Given the description of an element on the screen output the (x, y) to click on. 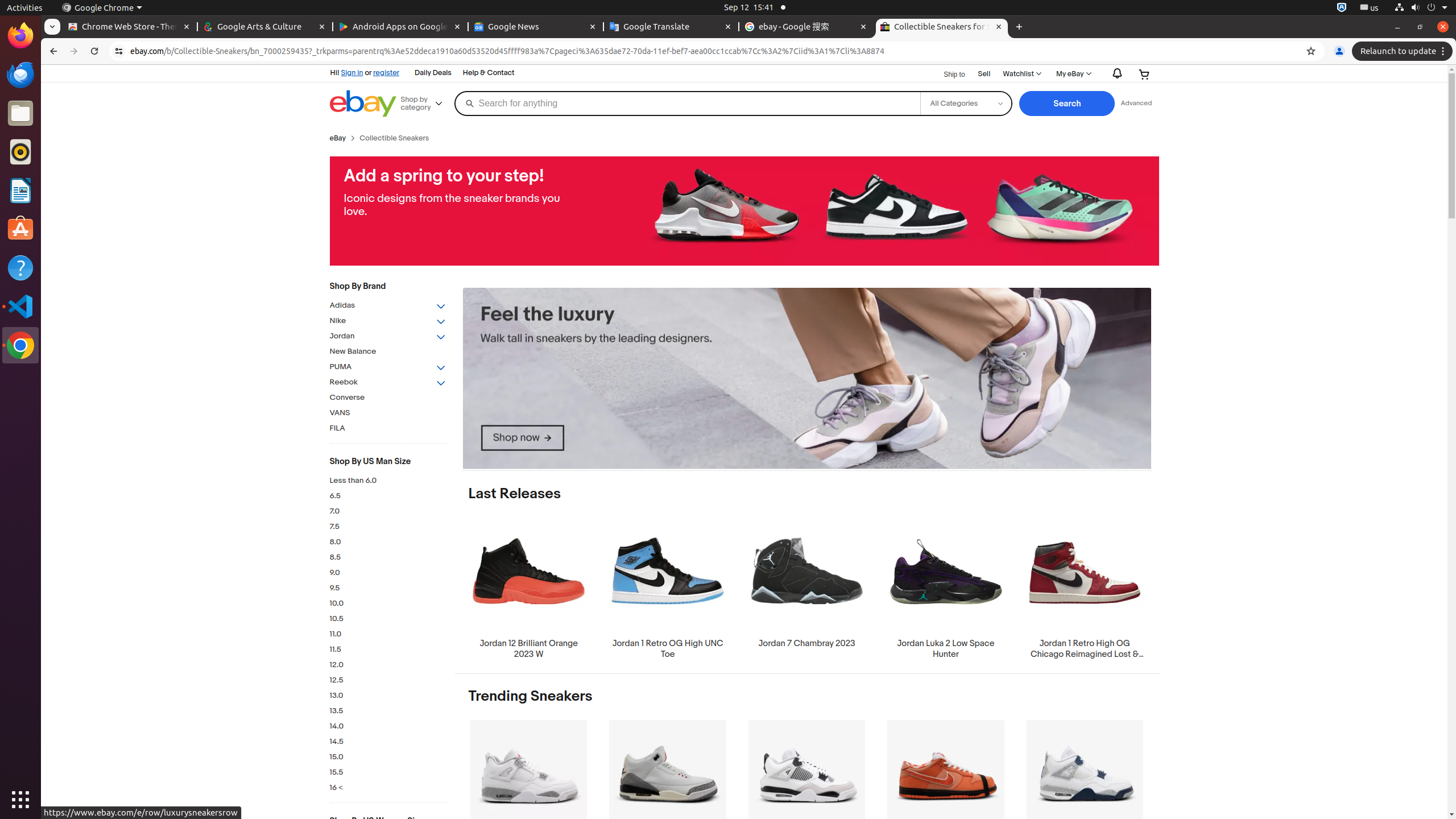
15.0 Element type: link (387, 756)
Bookmark this tab Element type: push-button (1310, 51)
Notifications Element type: push-button (1114, 73)
Reload Element type: push-button (94, 50)
12.5 Element type: link (387, 680)
